Given the description of an element on the screen output the (x, y) to click on. 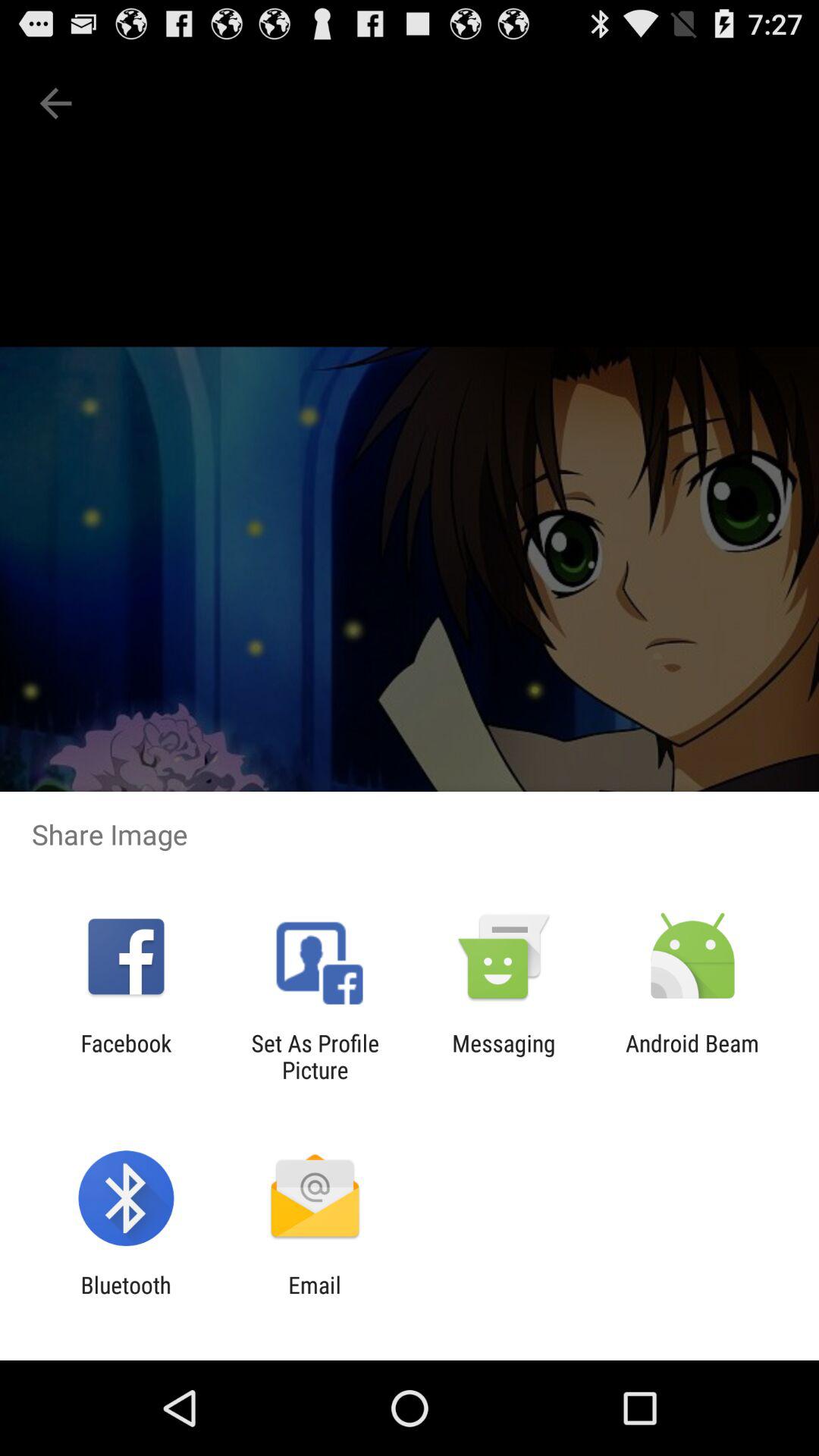
click facebook icon (125, 1056)
